Given the description of an element on the screen output the (x, y) to click on. 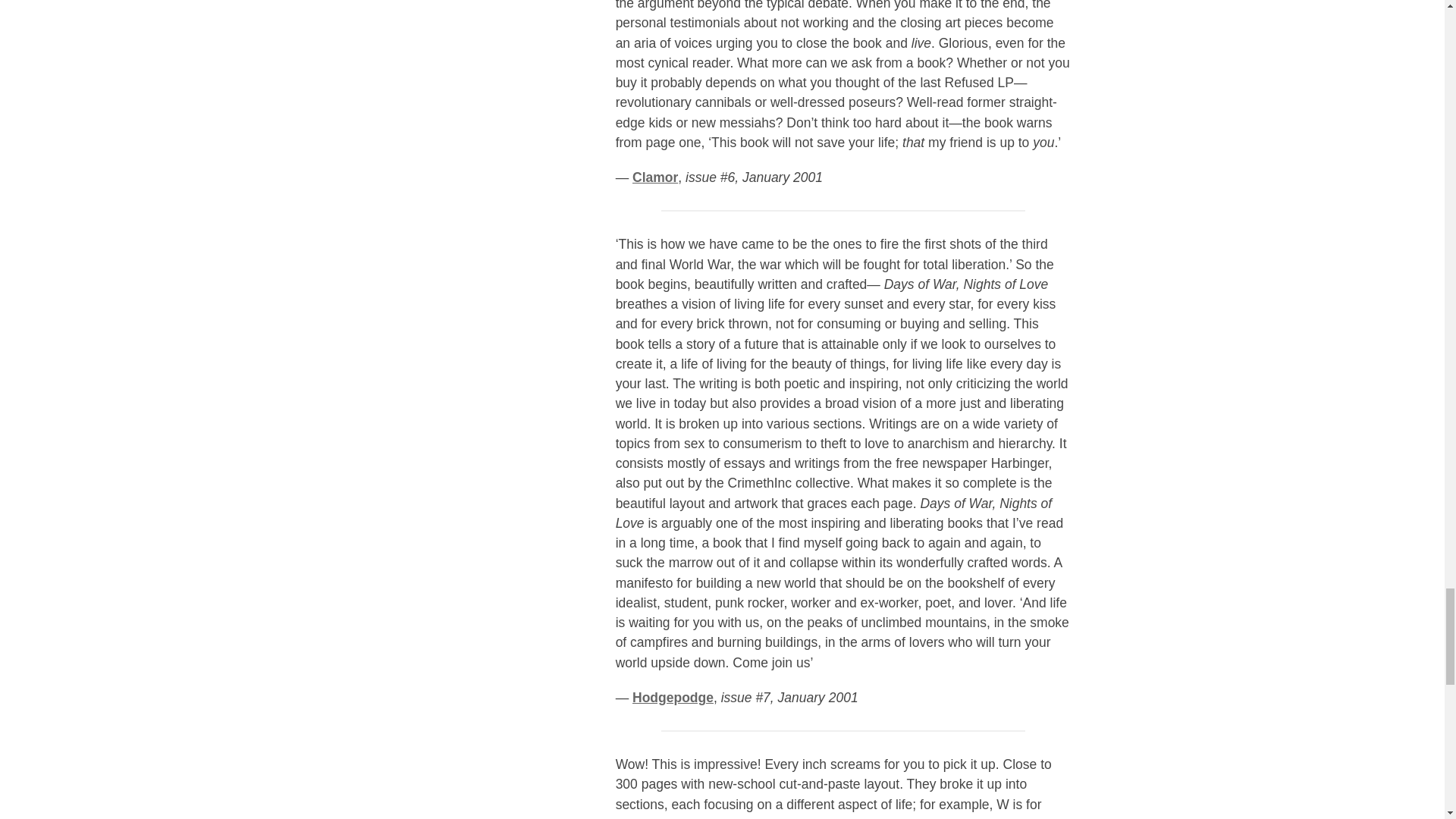
Clamor (654, 177)
Hodgepodge (672, 697)
